Given the description of an element on the screen output the (x, y) to click on. 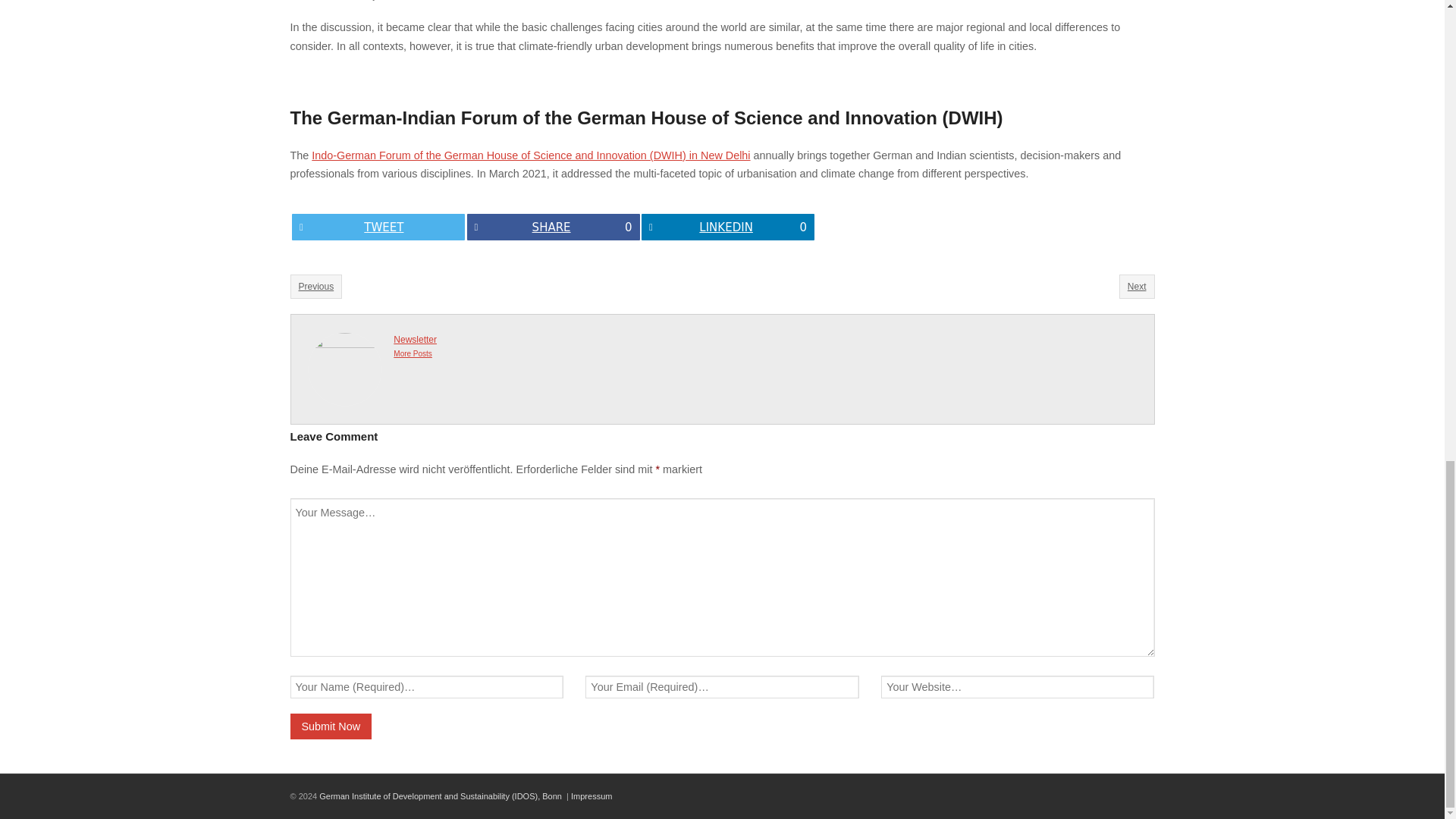
Next (1136, 286)
Newsletter (414, 339)
Share on Facebook (553, 226)
Previous (315, 286)
Tweet on Twitter (378, 226)
Submit Now (330, 726)
Impressum (590, 795)
TWEET (378, 226)
Share on Linkedin (727, 226)
More Posts By Newsletter (412, 353)
